Given the description of an element on the screen output the (x, y) to click on. 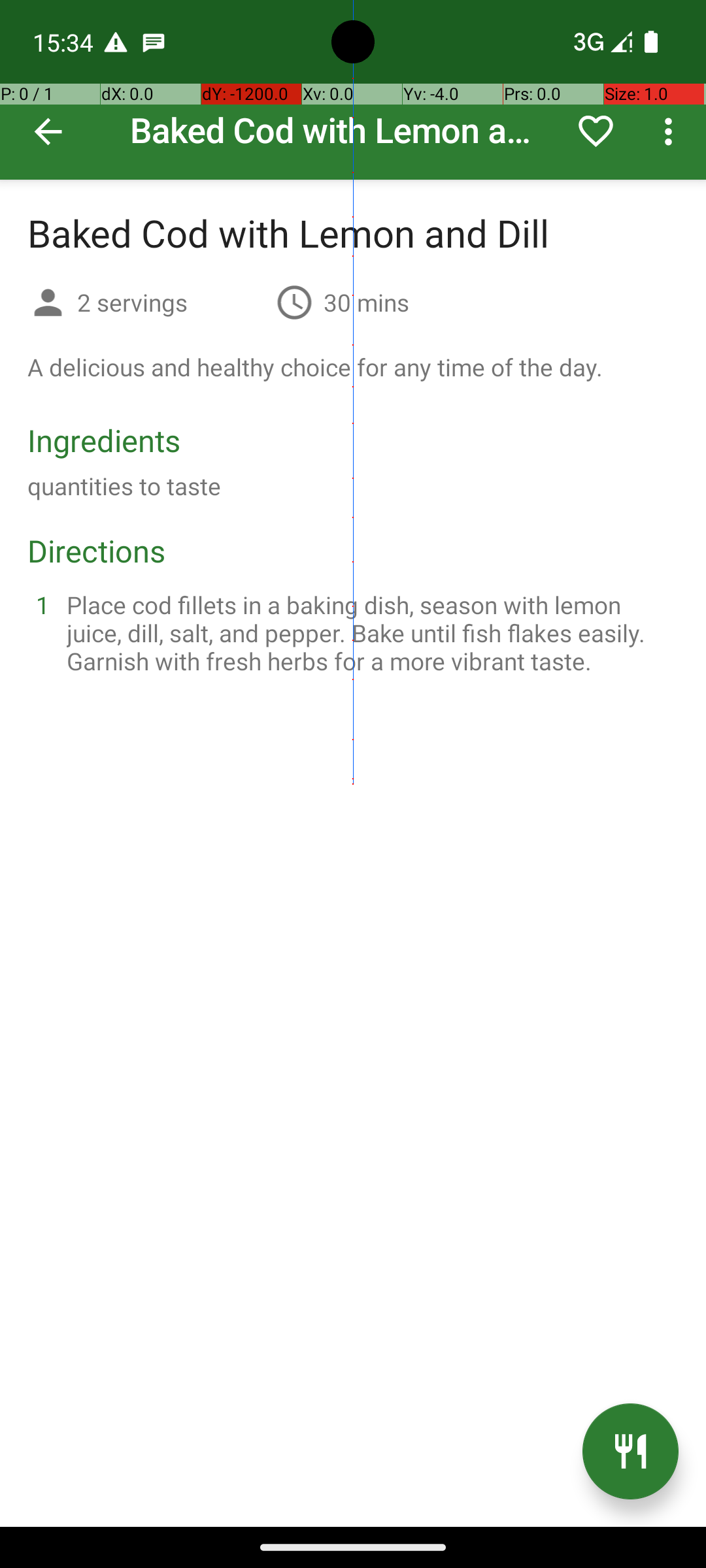
quantities to taste Element type: android.widget.TextView (123, 485)
Place cod fillets in a baking dish, season with lemon juice, dill, salt, and pepper. Bake until fish flakes easily. Garnish with fresh herbs for a more vibrant taste. Element type: android.widget.TextView (368, 632)
